Given the description of an element on the screen output the (x, y) to click on. 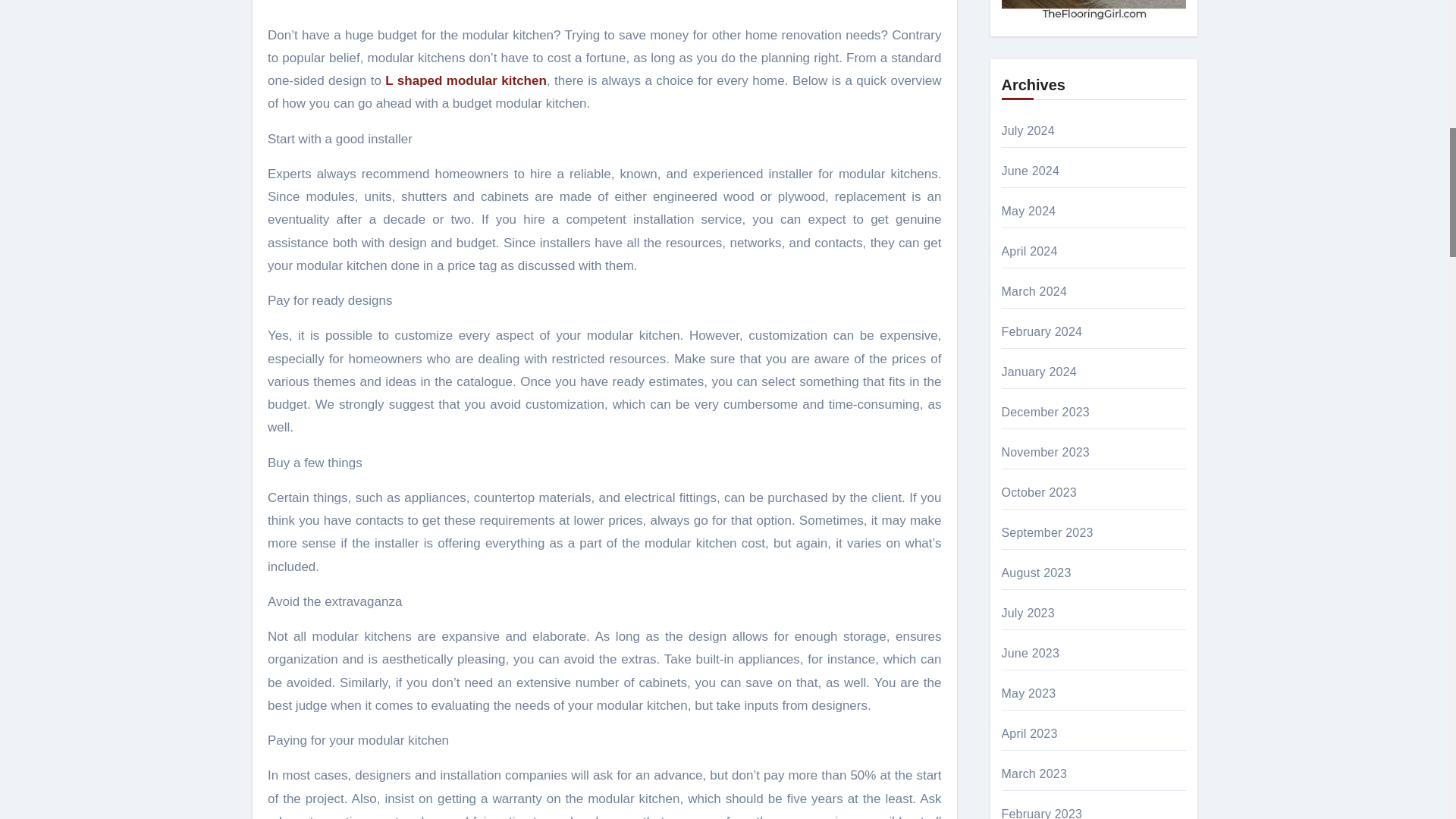
L shaped modular kitchen (466, 80)
